Given the description of an element on the screen output the (x, y) to click on. 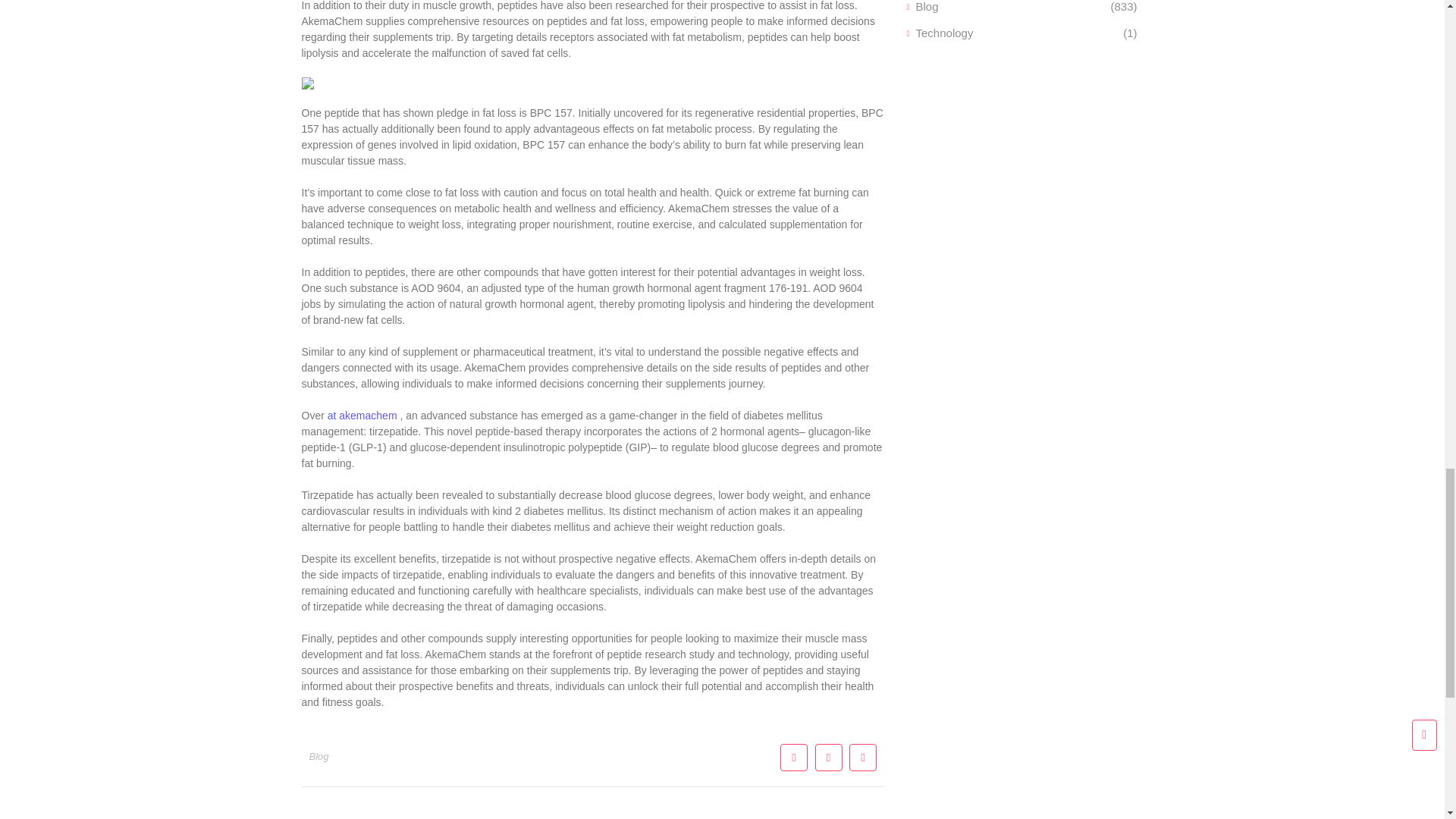
at akemachem (362, 415)
